Given the description of an element on the screen output the (x, y) to click on. 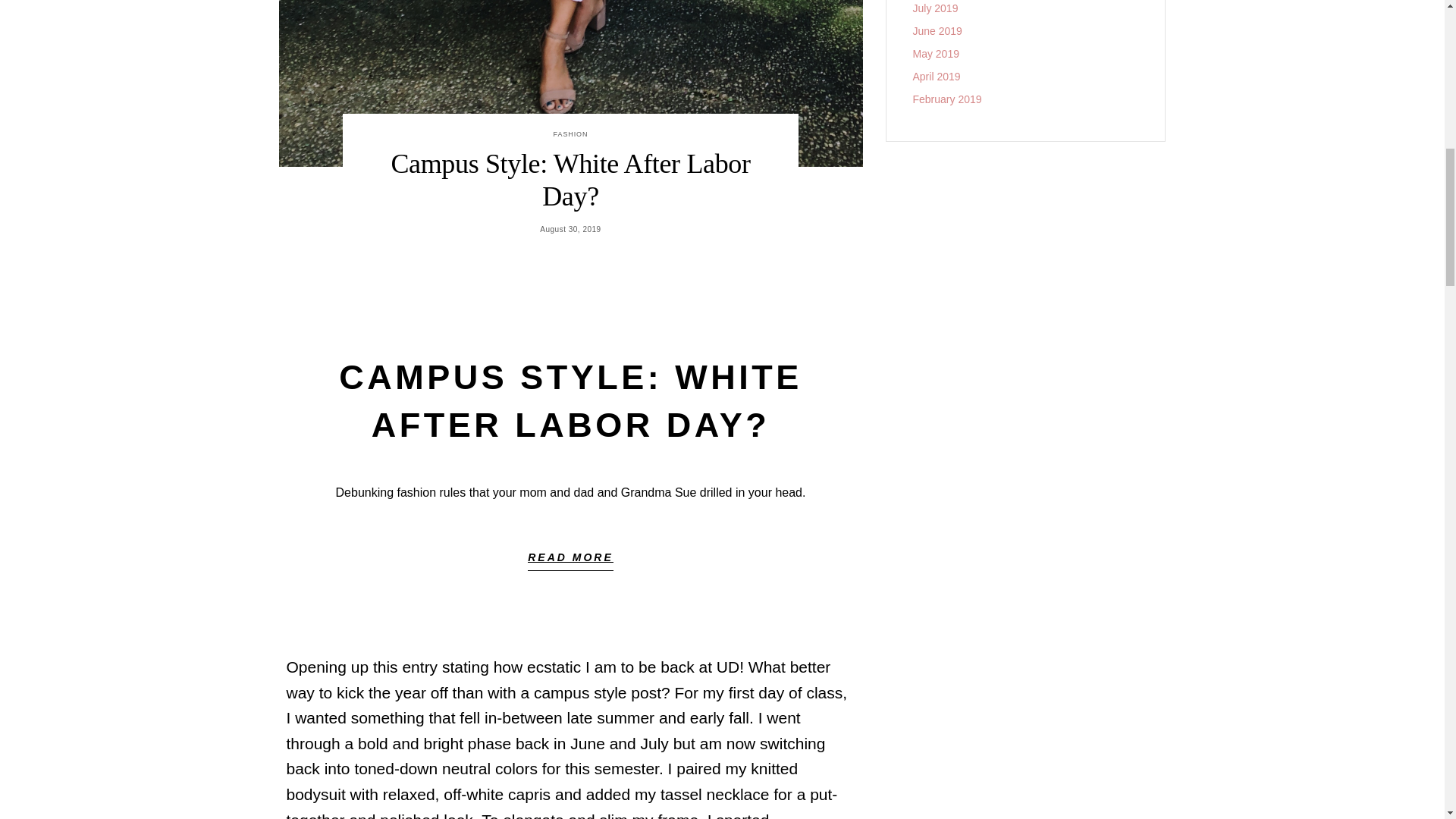
FASHION (570, 134)
READ MORE (569, 561)
